Given the description of an element on the screen output the (x, y) to click on. 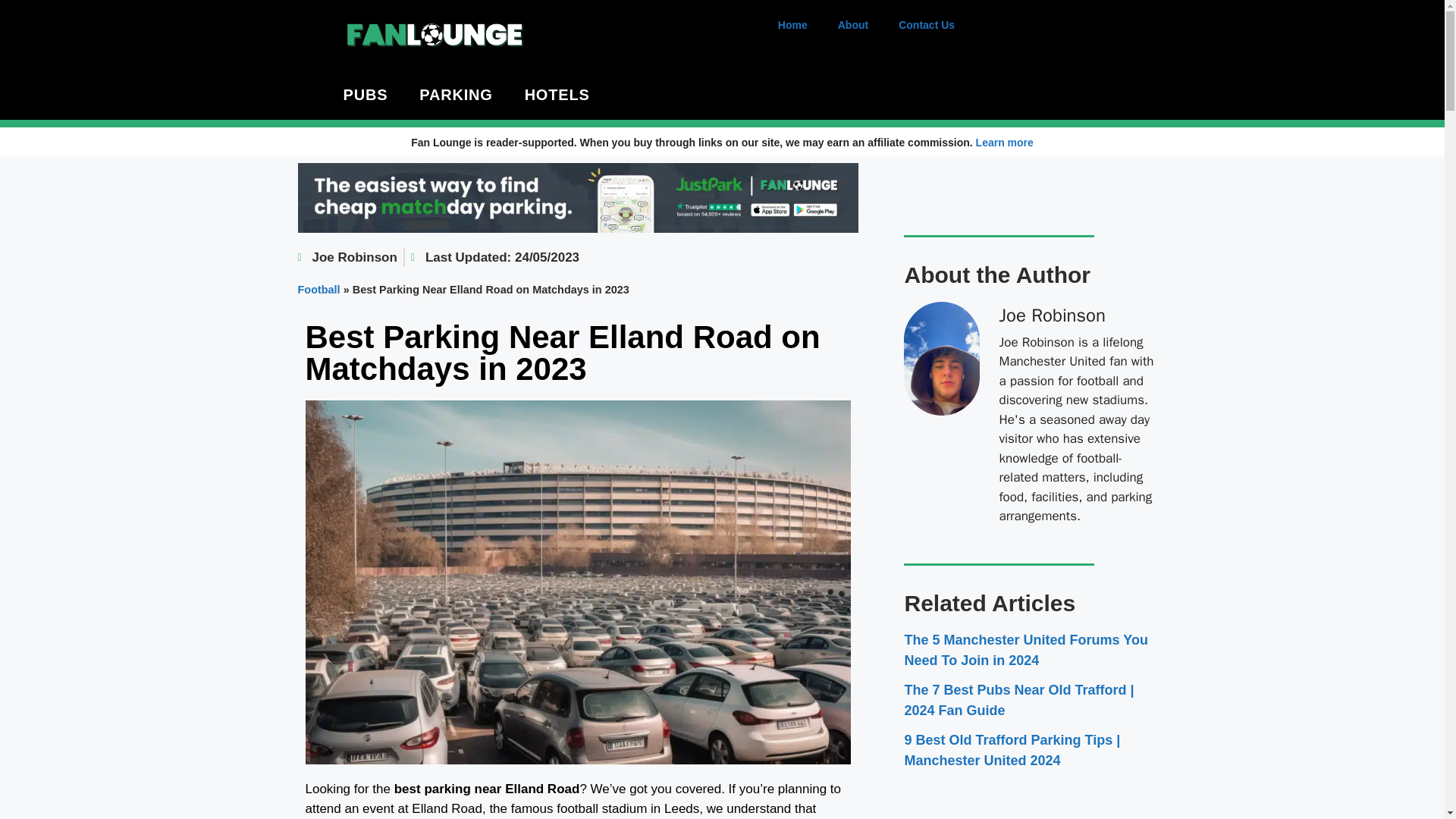
About (852, 24)
Learn more (1004, 142)
PUBS (365, 94)
Contact Us (926, 24)
Home (792, 24)
Football (318, 289)
HOTELS (557, 94)
Joe Robinson (346, 257)
The 5 Manchester United Forums You Need To Join in 2024 (1025, 650)
PARKING (455, 94)
